Given the description of an element on the screen output the (x, y) to click on. 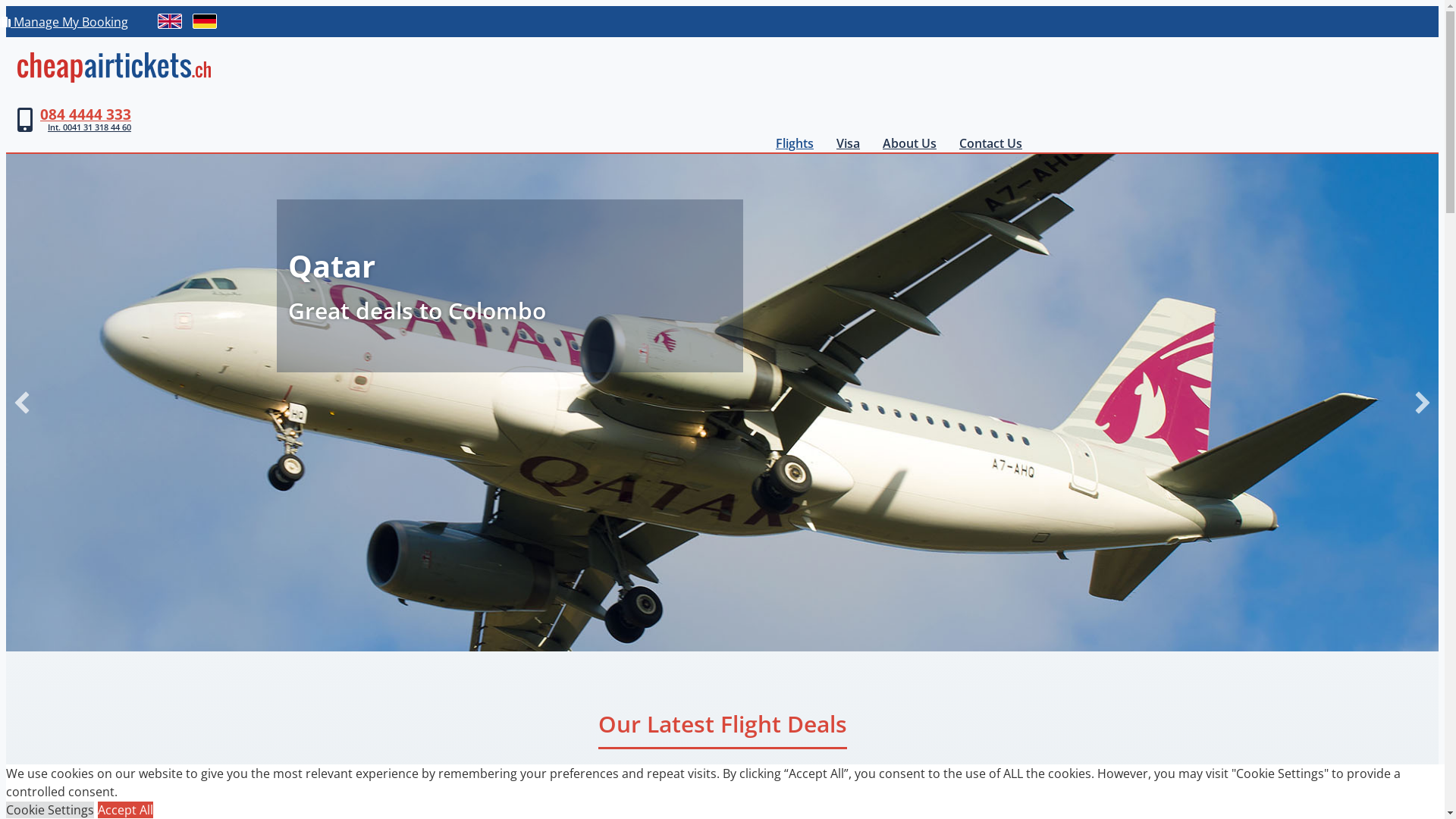
Visa Element type: text (848, 143)
084 4444 333 Element type: text (85, 113)
About Us Element type: text (909, 143)
Cookie Settings Element type: text (50, 809)
Int. 0041 31 318 44 60 Element type: text (85, 127)
Contact Us Element type: text (990, 143)
Accept All Element type: text (125, 809)
Flights Element type: text (794, 143)
